Given the description of an element on the screen output the (x, y) to click on. 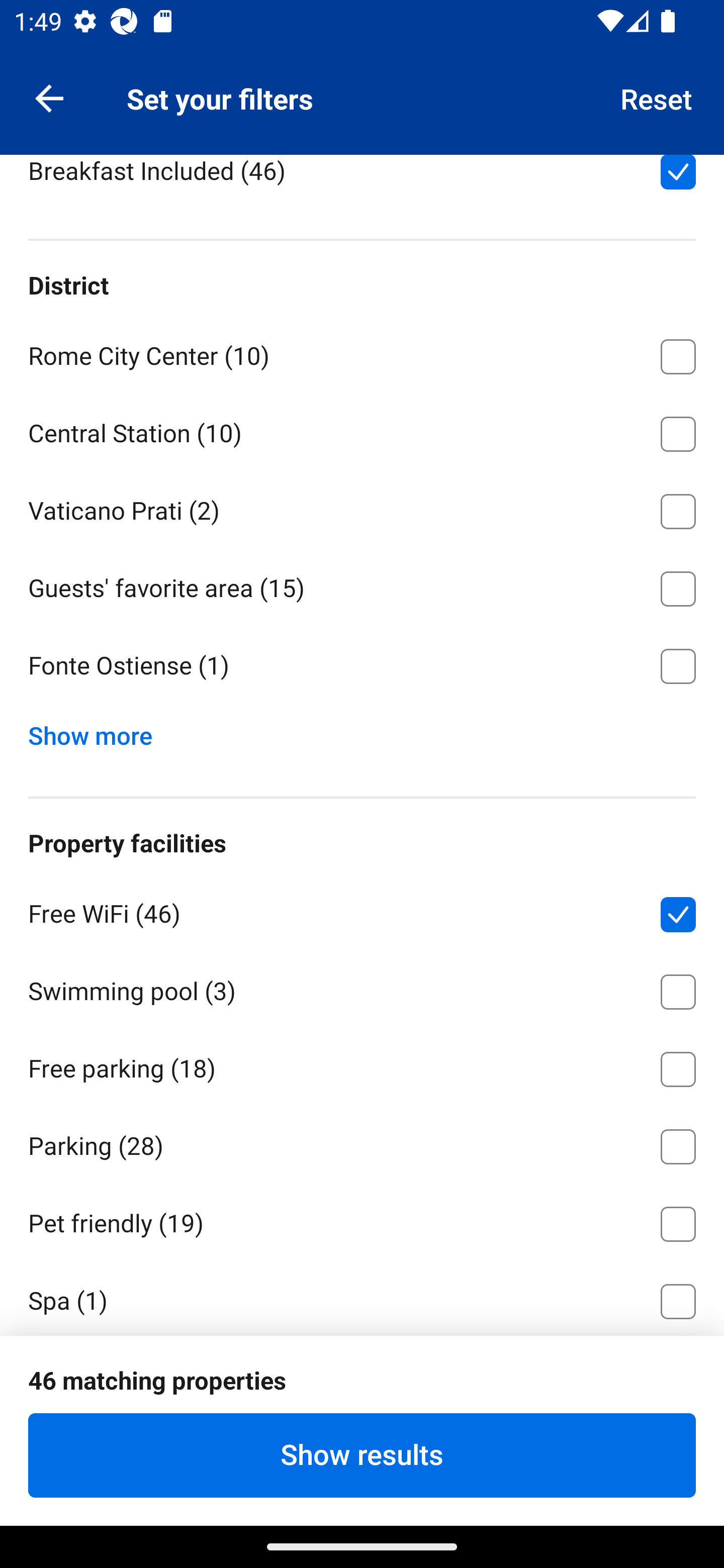
Navigate up (49, 97)
Reset (656, 97)
Breakfast Included ⁦(46) (361, 182)
Rome City Center ⁦(10) (361, 353)
Central Station ⁦(10) (361, 430)
Vaticano Prati ⁦(2) (361, 507)
Guests' favorite area ⁦(15) (361, 585)
Fonte Ostiense ⁦(1) (361, 666)
Show more (97, 731)
Free WiFi ⁦(46) (361, 910)
Swimming pool ⁦(3) (361, 988)
Free parking ⁦(18) (361, 1065)
Parking ⁦(28) (361, 1142)
Pet friendly ⁦(19) (361, 1220)
Spa ⁦(1) (361, 1297)
Fitness center ⁦(6) (361, 1375)
Show results (361, 1454)
